Given the description of an element on the screen output the (x, y) to click on. 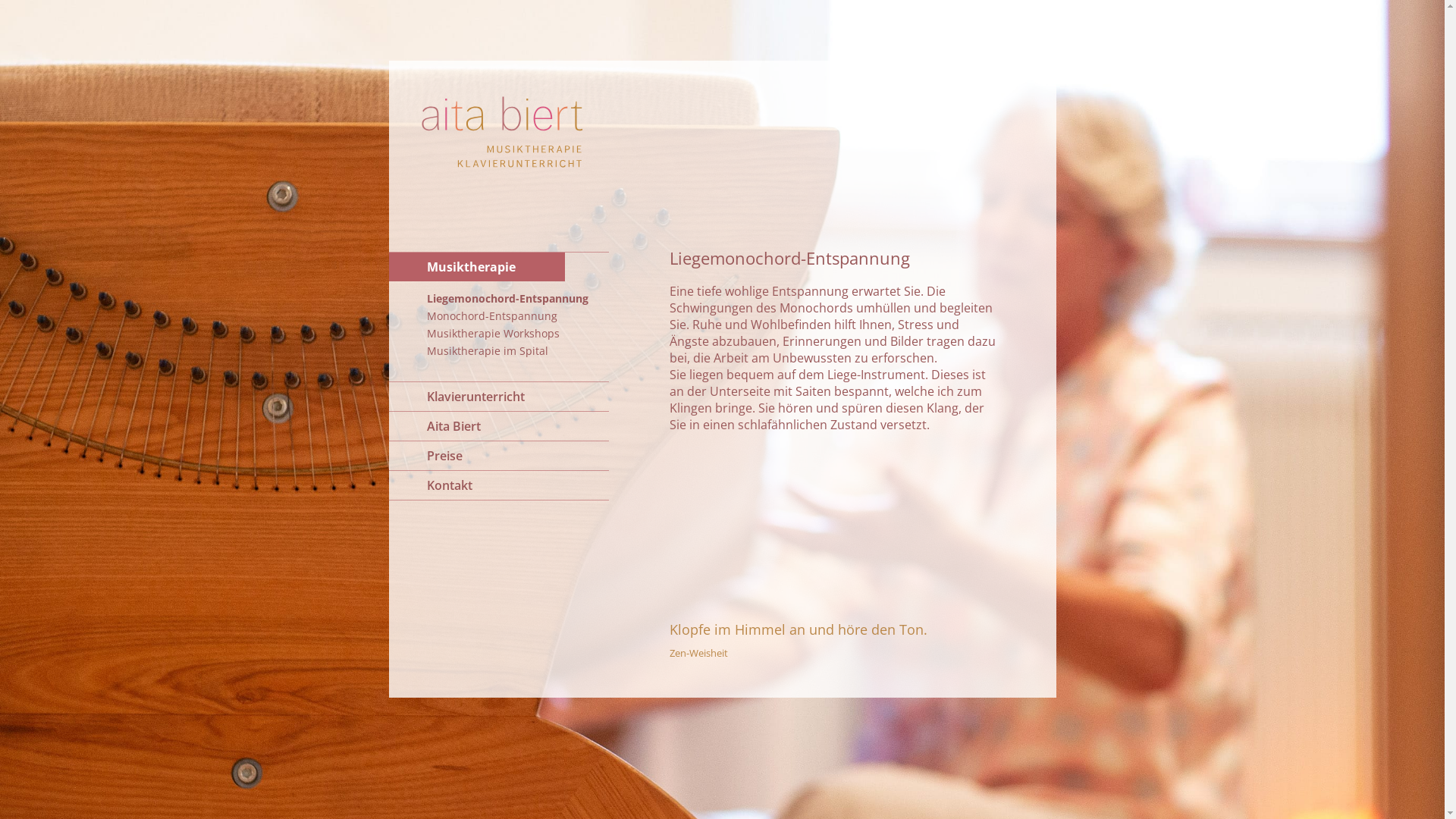
Aita Biert Element type: text (498, 425)
Liegemonochord-Entspannung Element type: text (498, 298)
Musiktherapie im Spital Element type: text (498, 350)
Musiktherapie Element type: text (498, 266)
Musiktherapie Workshops Element type: text (498, 333)
Klavierunterricht Element type: text (498, 396)
Preise Element type: text (498, 455)
Kontakt Element type: text (498, 484)
Monochord-Entspannung Element type: text (498, 315)
